Given the description of an element on the screen output the (x, y) to click on. 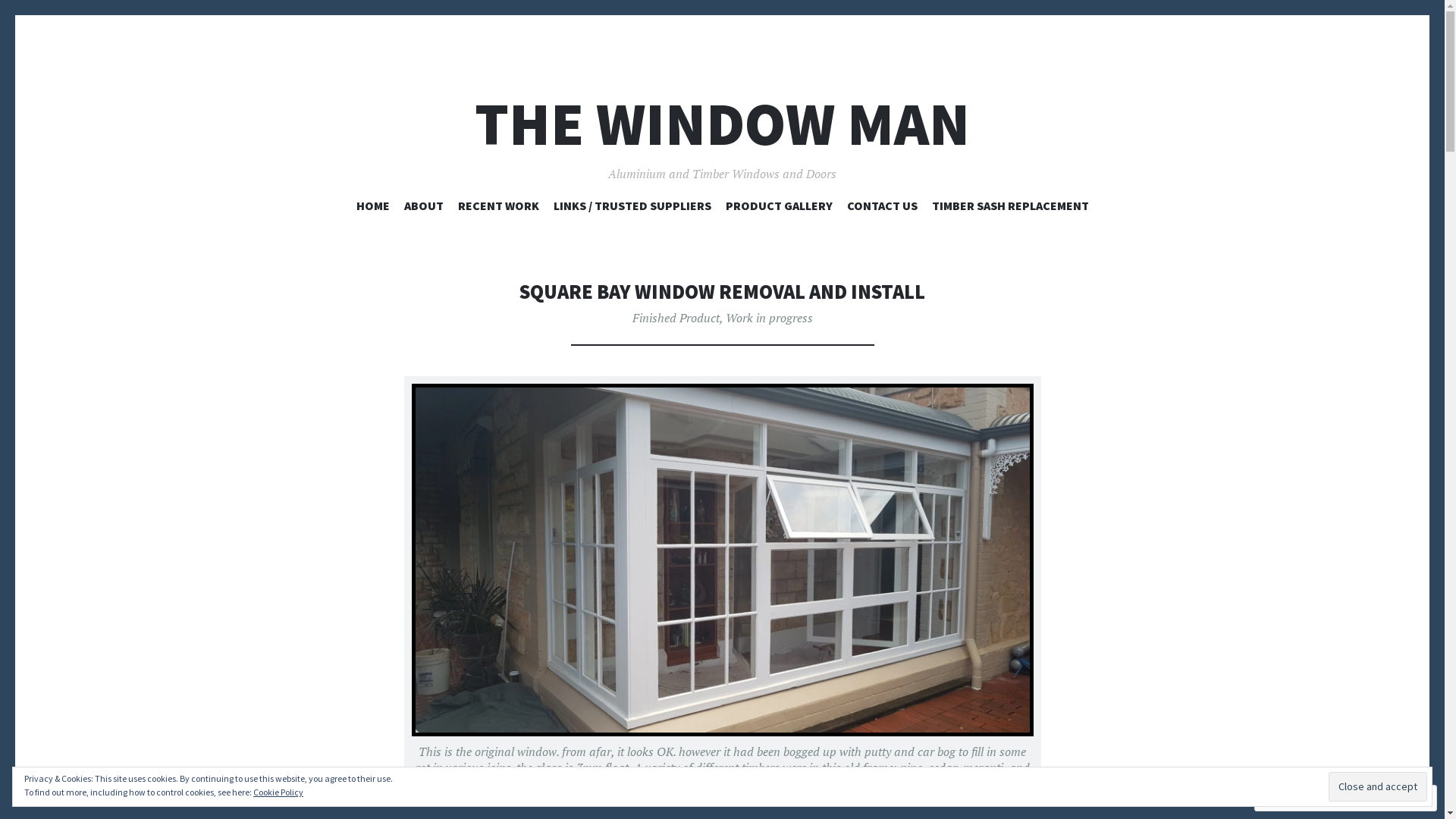
THE WINDOW MAN Element type: text (721, 123)
Follow Element type: text (1372, 797)
ABOUT Element type: text (422, 208)
PRODUCT GALLERY Element type: text (777, 208)
Comment Element type: text (1295, 797)
HOME Element type: text (372, 208)
Work in progress Element type: text (768, 317)
Finished Product Element type: text (675, 317)
LINKS / TRUSTED SUPPLIERS Element type: text (632, 208)
TIMBER SASH REPLACEMENT Element type: text (1009, 208)
RECENT WORK Element type: text (498, 208)
Close and accept Element type: text (1377, 786)
CONTACT US Element type: text (881, 208)
Cookie Policy Element type: text (278, 791)
